Given the description of an element on the screen output the (x, y) to click on. 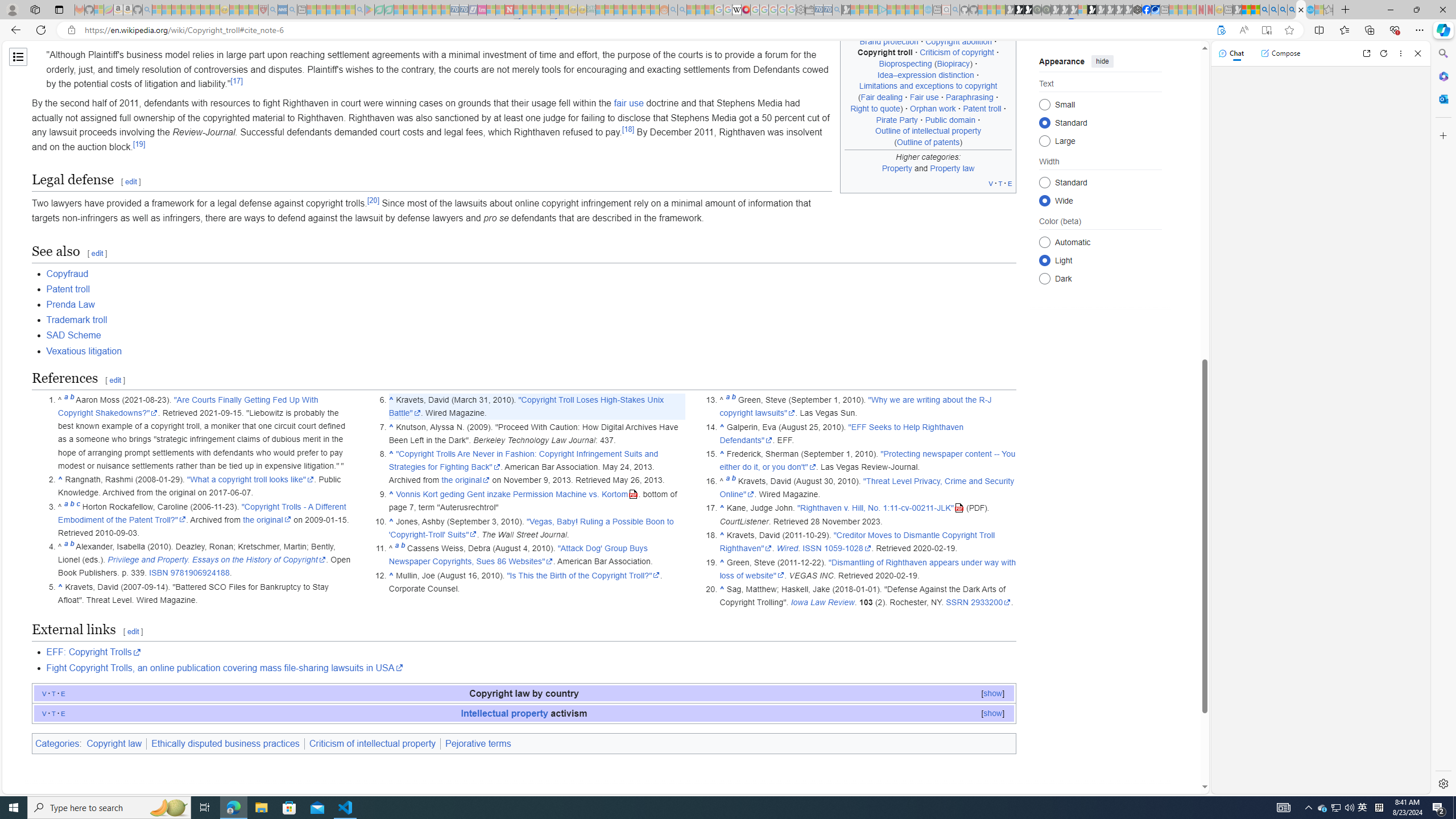
MSN - Sleeping (1236, 9)
b (732, 480)
SAD Scheme (73, 335)
e (63, 712)
Copyfraud (531, 273)
Right to quote) (876, 108)
"Copyright Troll Loses High-Stakes Unix Battle" (525, 406)
2933200 (991, 602)
Copyright law (115, 743)
